Given the description of an element on the screen output the (x, y) to click on. 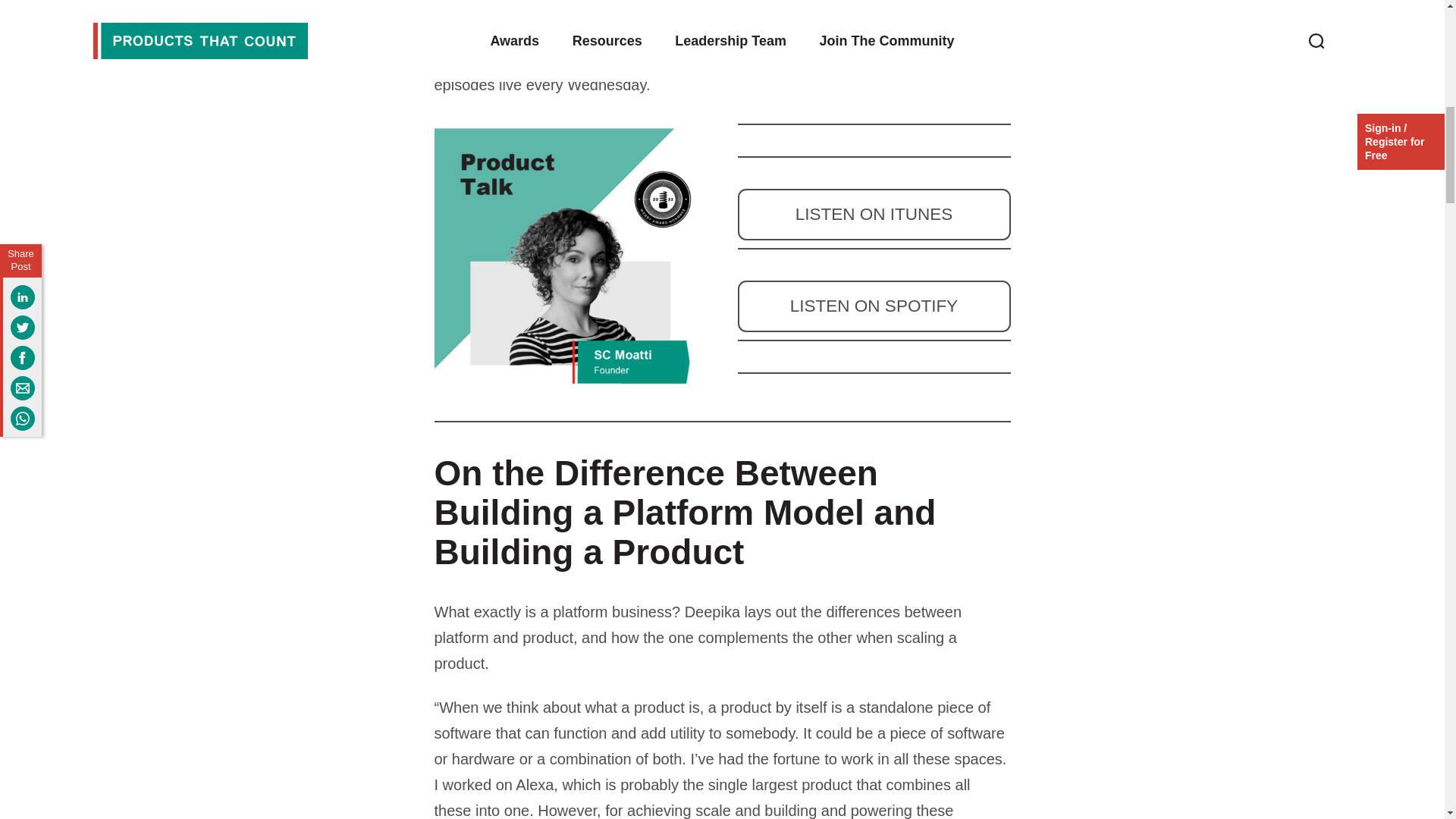
Spotify (736, 33)
LISTEN ON ITUNES (873, 214)
LISTEN ON SPOTIFY (873, 306)
Apple Podcasts (845, 33)
